Given the description of an element on the screen output the (x, y) to click on. 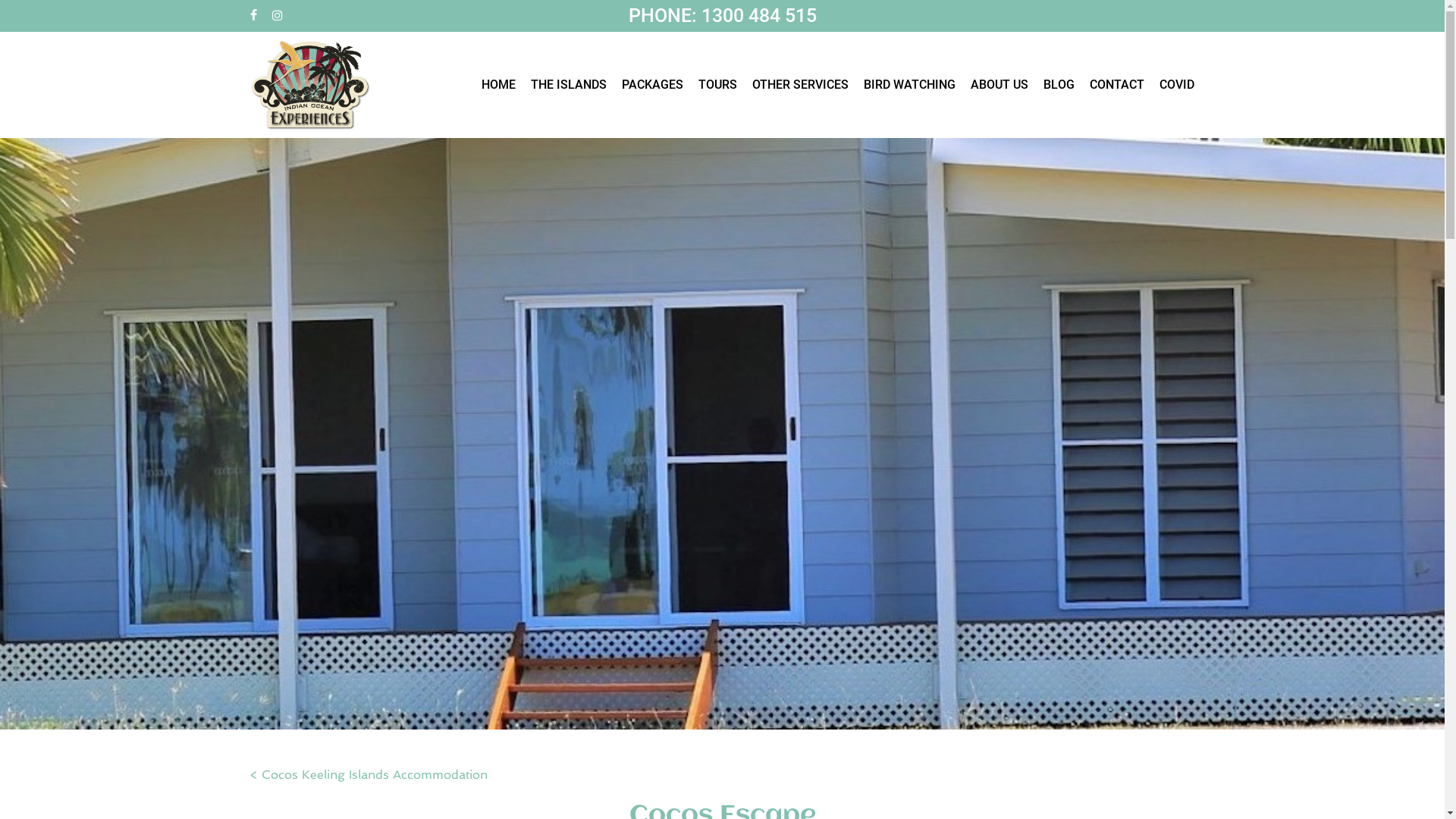
TOURS Element type: text (717, 84)
OTHER SERVICES Element type: text (800, 84)
PACKAGES Element type: text (652, 84)
THE ISLANDS Element type: text (568, 84)
ABOUT US Element type: text (999, 84)
HOME Element type: text (498, 84)
instagram Element type: text (277, 15)
facebook Element type: text (253, 15)
< Cocos Keeling Islands Accommodation Element type: text (368, 774)
COVID Element type: text (1176, 84)
PHONE: 1300 484 515 Element type: text (721, 15)
BIRD WATCHING Element type: text (909, 84)
BLOG Element type: text (1058, 84)
CONTACT Element type: text (1116, 84)
